Given the description of an element on the screen output the (x, y) to click on. 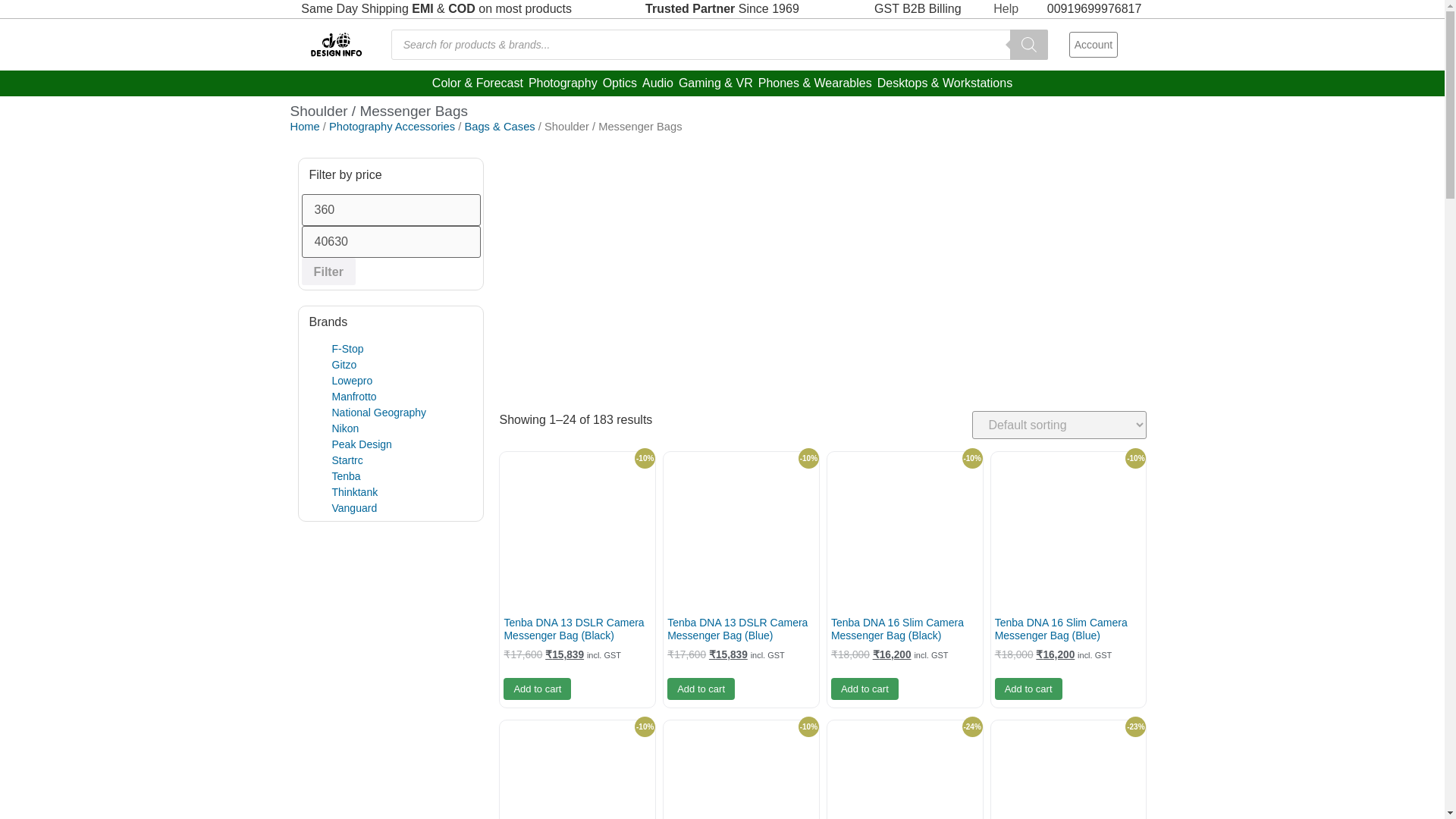
360 (391, 210)
40630 (391, 241)
Account (1094, 44)
Help (997, 8)
Think Tank Photo SpeedTop 15 Cross-Body Shoulder Bag (904, 769)
Think Tank Photo SpeedTop 10 Cross-Body Shoulder Bag (1068, 769)
